Given the description of an element on the screen output the (x, y) to click on. 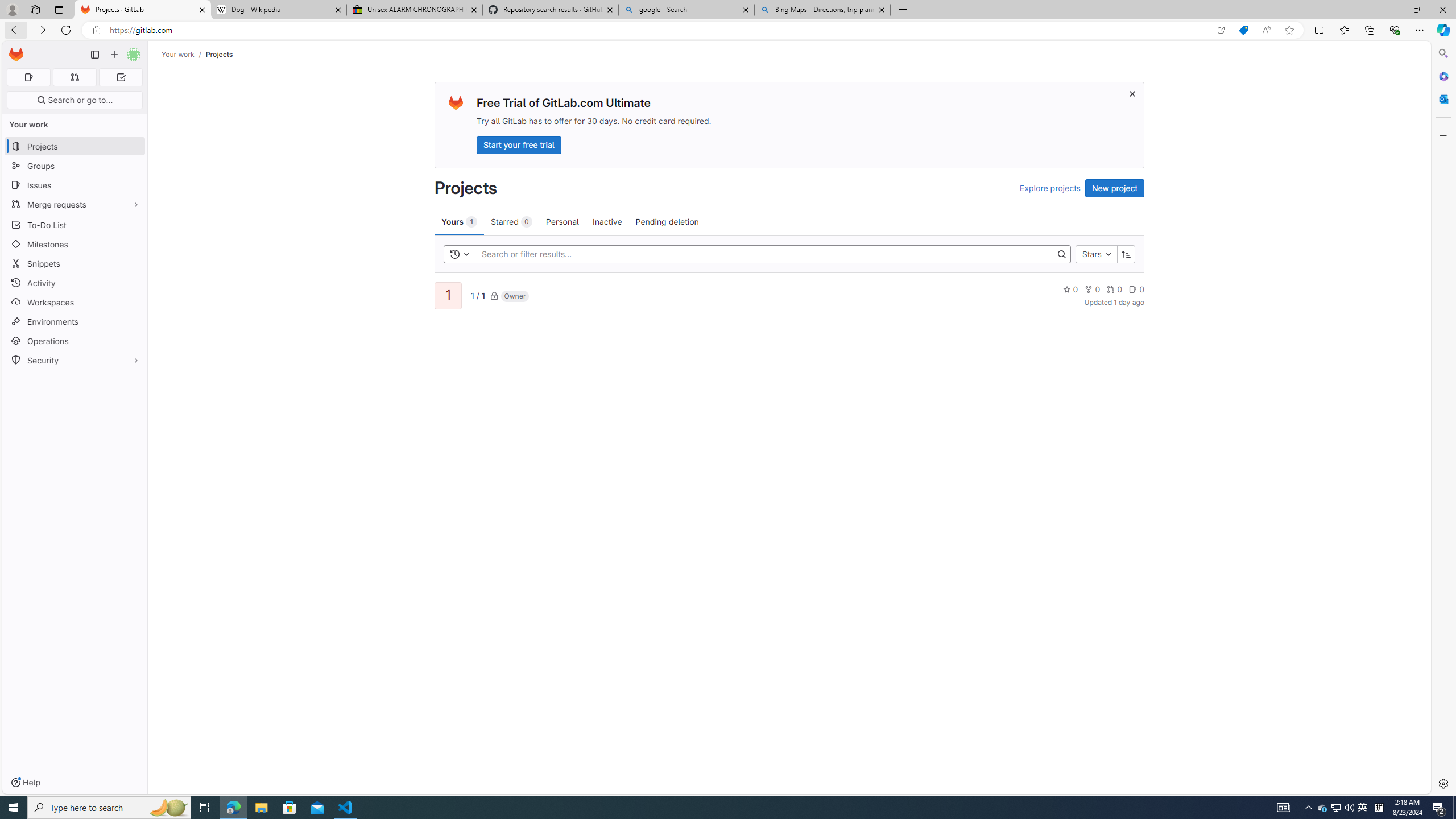
Milestones (74, 244)
Activity (74, 282)
Operations (74, 340)
To-Do List (74, 224)
To-Do list 0 (120, 76)
Create new... (113, 54)
Class: s14 gl-mr-2 (1132, 289)
